Given the description of an element on the screen output the (x, y) to click on. 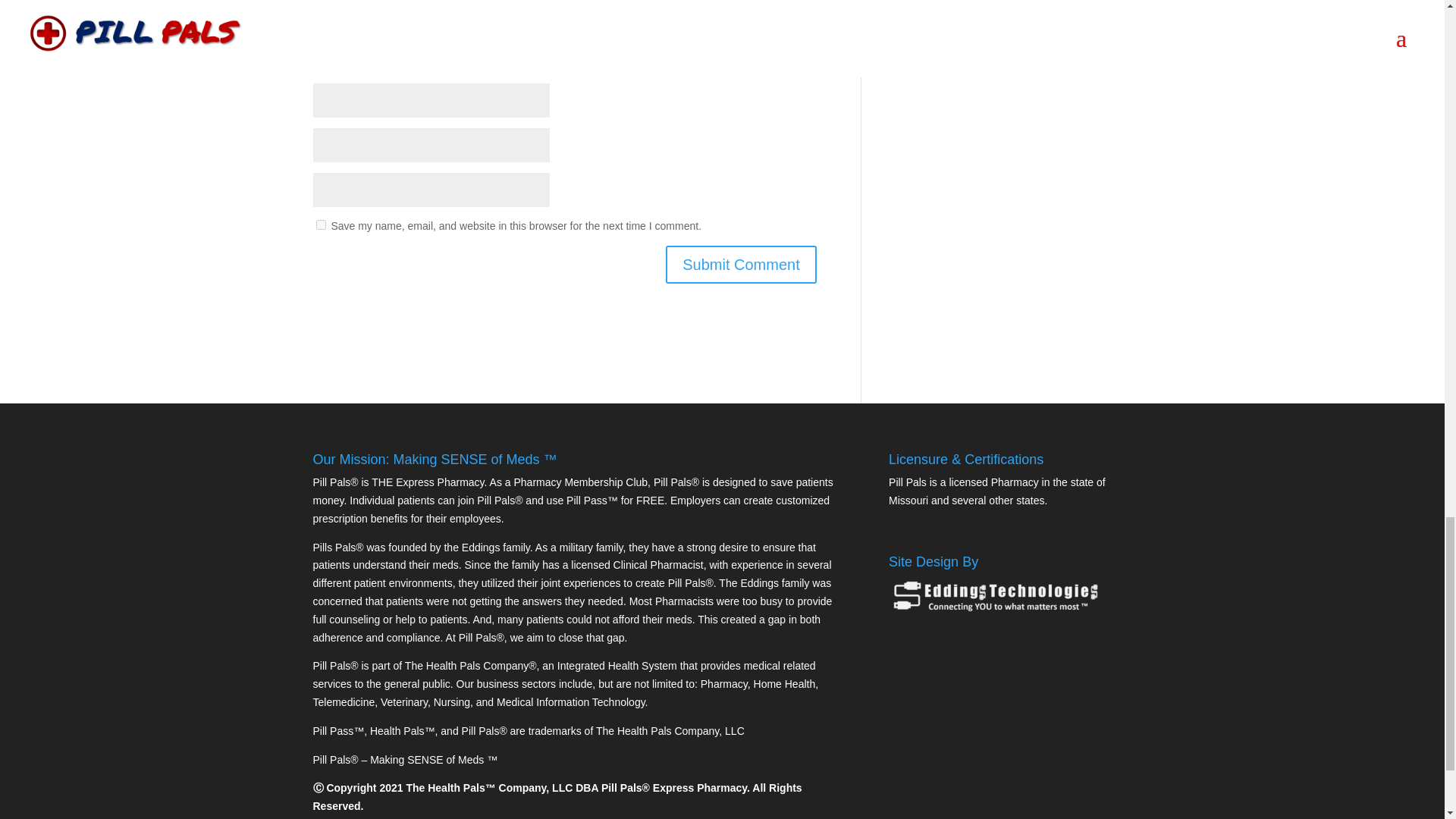
yes (319, 225)
Submit Comment (740, 264)
Submit Comment (740, 264)
